Given the description of an element on the screen output the (x, y) to click on. 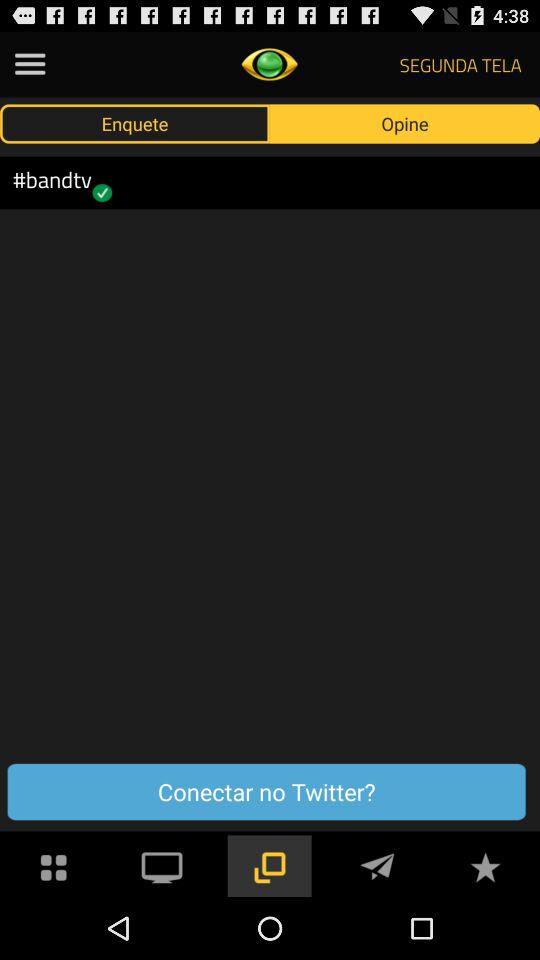
turn off icon below the conectar no twitter? (485, 864)
